Given the description of an element on the screen output the (x, y) to click on. 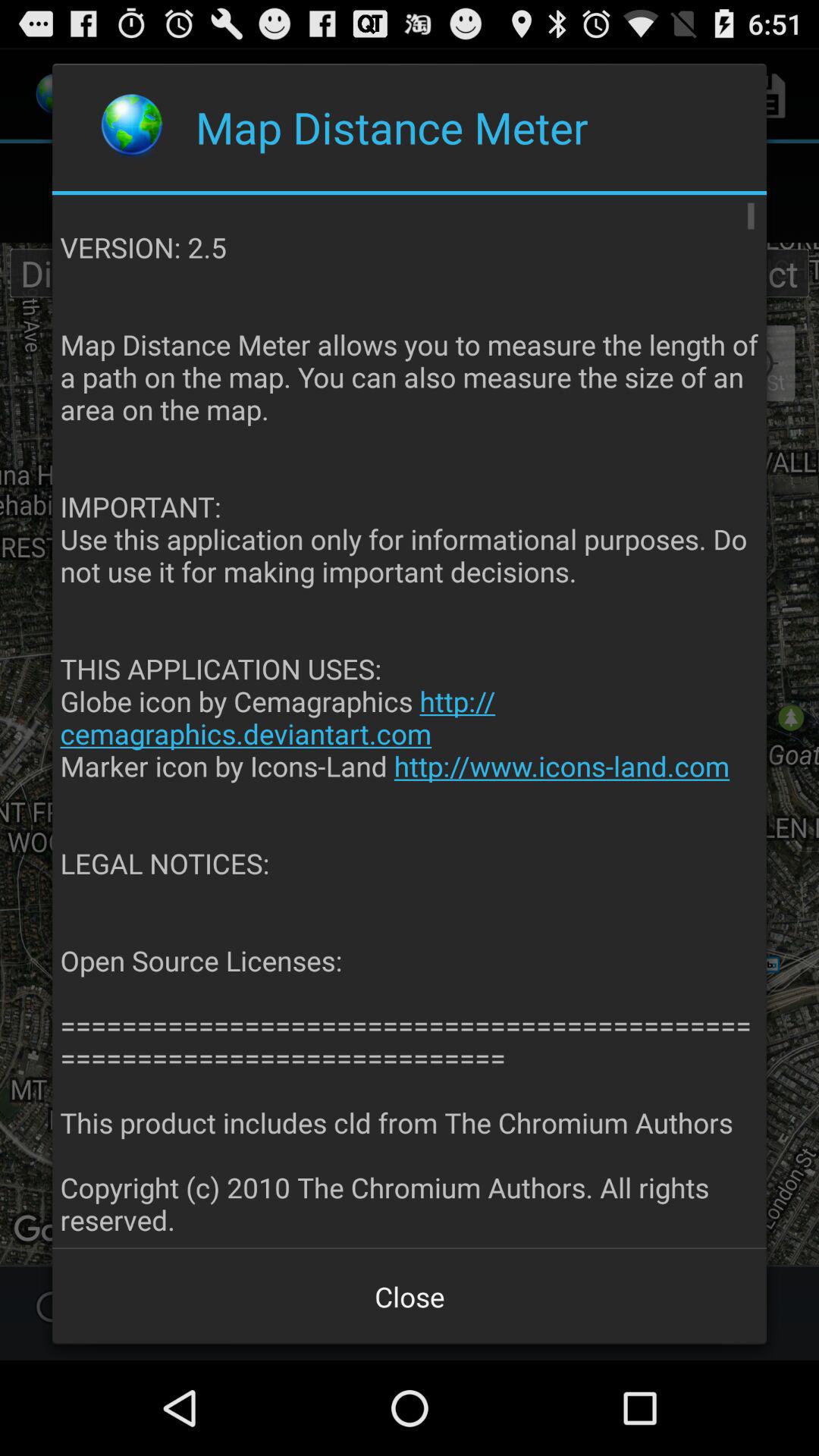
turn off the item above the close (410, 721)
